Given the description of an element on the screen output the (x, y) to click on. 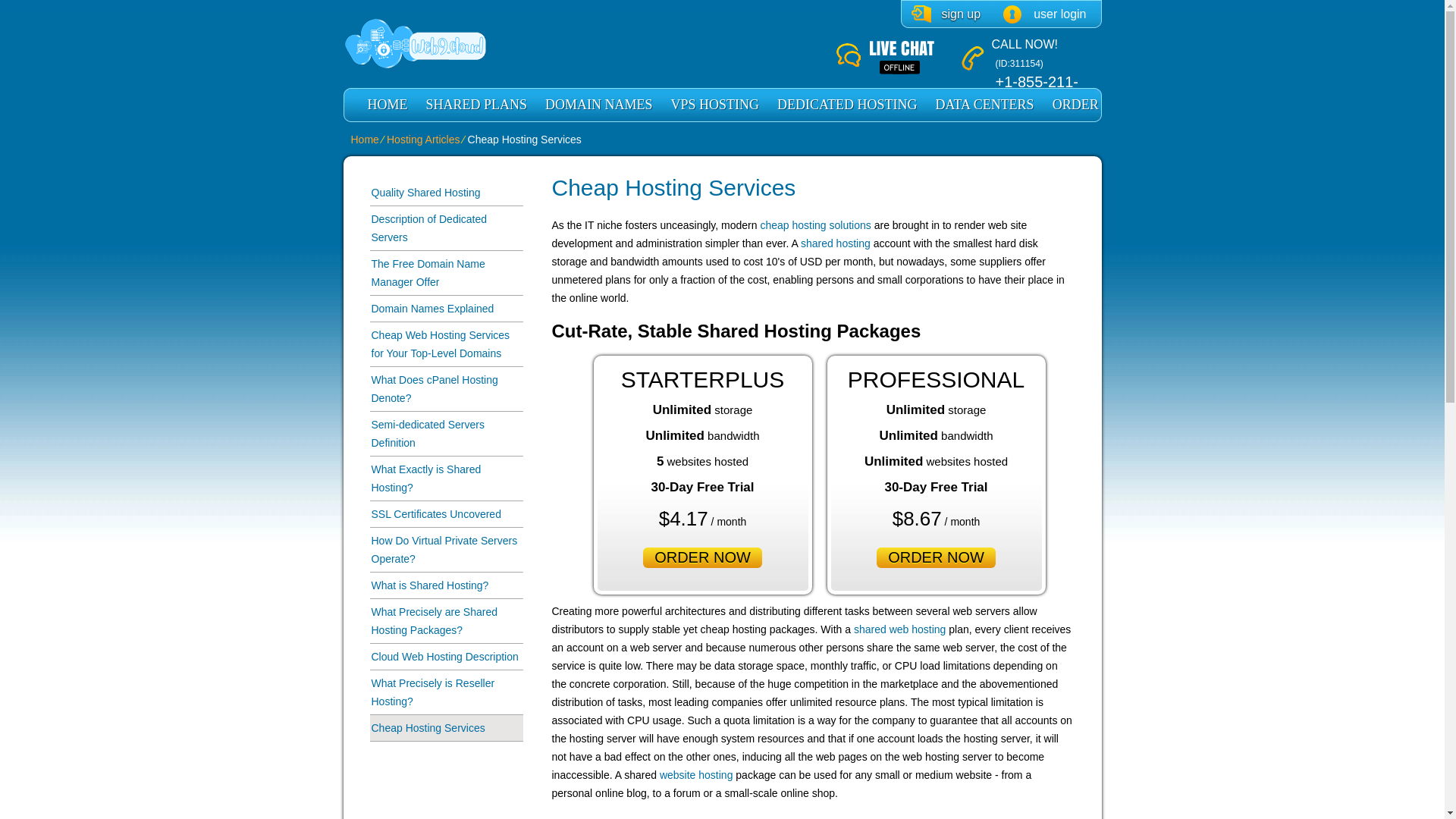
sign up (946, 13)
VPS HOSTING (715, 104)
sign up (946, 13)
HOME (387, 104)
The Free Domain Name Manager Offer (445, 272)
Domain Names Explained (445, 308)
Quality Shared Hosting (445, 192)
ORDER (1075, 104)
client login (1044, 13)
SHARED PLANS (476, 104)
Live chat offline (897, 58)
Hosting Articles (423, 139)
Semi-dedicated Servers Definition (445, 433)
Cheap Web Hosting Services for Your Top-Level Domains (445, 344)
DEDICATED HOSTING (847, 104)
